Given the description of an element on the screen output the (x, y) to click on. 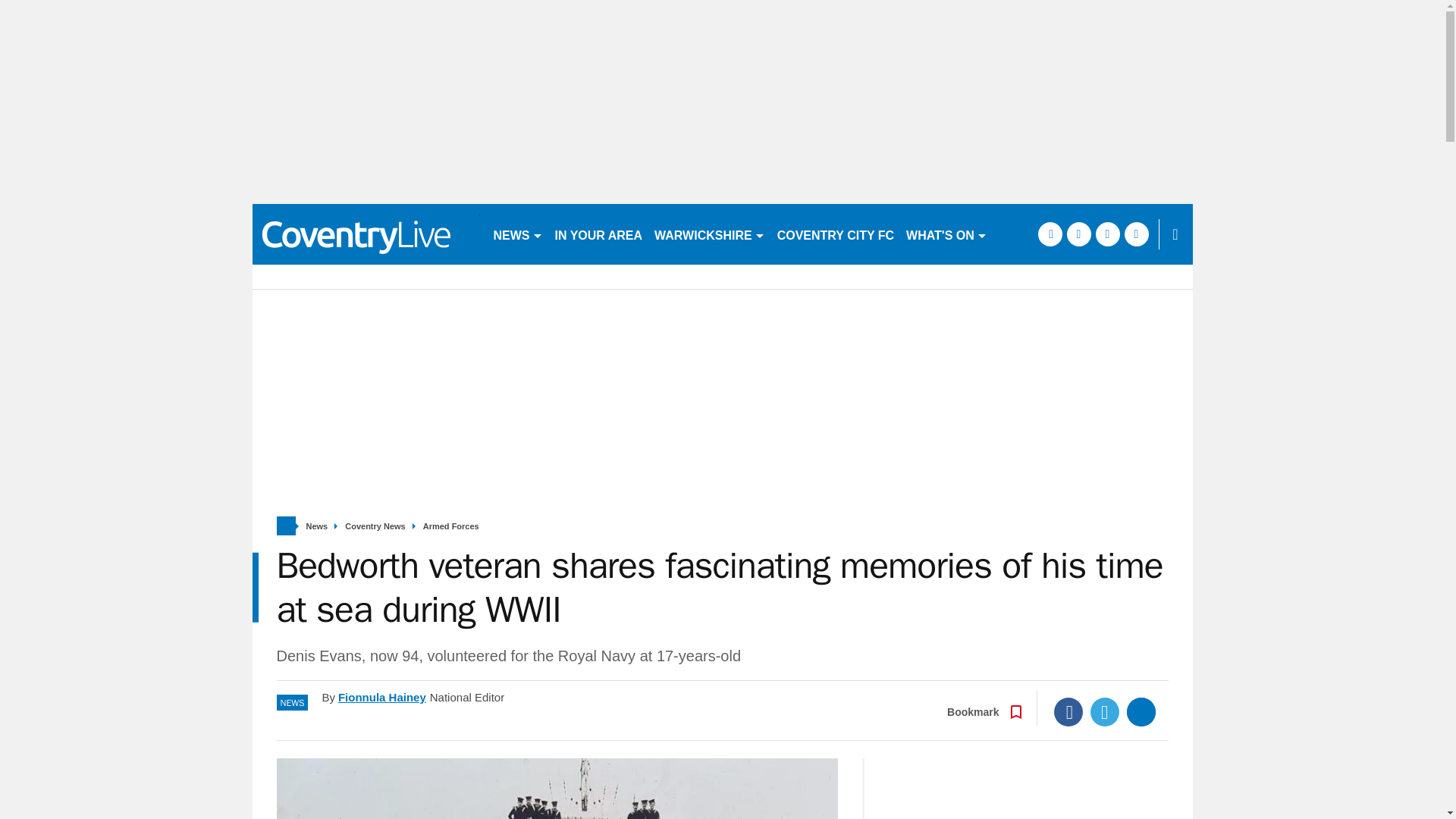
instagram (1136, 233)
Twitter (1104, 711)
facebook (1048, 233)
COVENTRY CITY FC (835, 233)
WHAT'S ON (945, 233)
WASPS RFC (1034, 233)
WARWICKSHIRE (709, 233)
IN YOUR AREA (598, 233)
NEWS (517, 233)
Facebook (1068, 711)
pinterest (1106, 233)
coventrytelegraph (365, 233)
twitter (1077, 233)
